Given the description of an element on the screen output the (x, y) to click on. 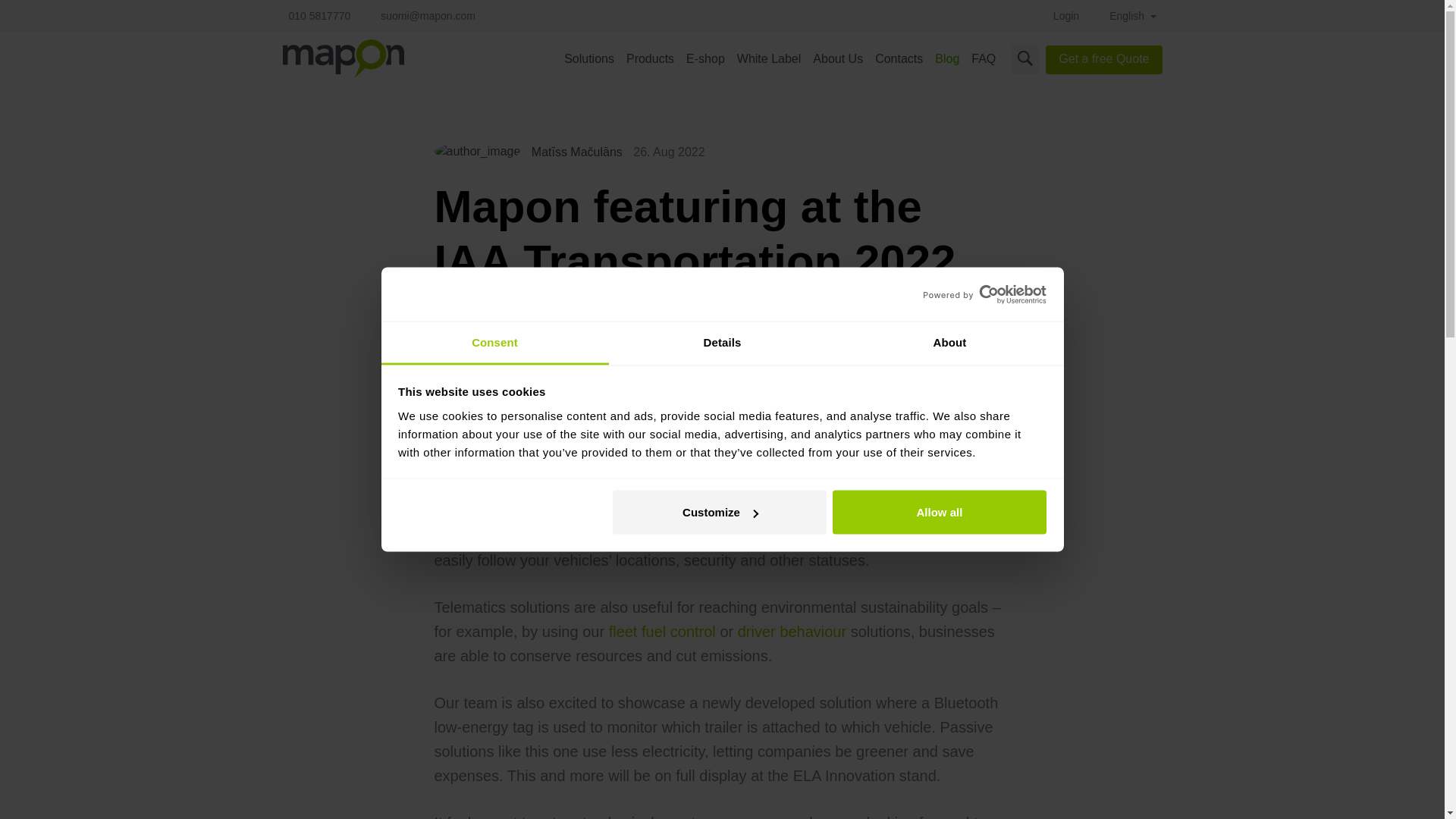
Consent (494, 342)
Details (721, 342)
Allow all (939, 512)
About (948, 342)
Customize (719, 512)
